Given the description of an element on the screen output the (x, y) to click on. 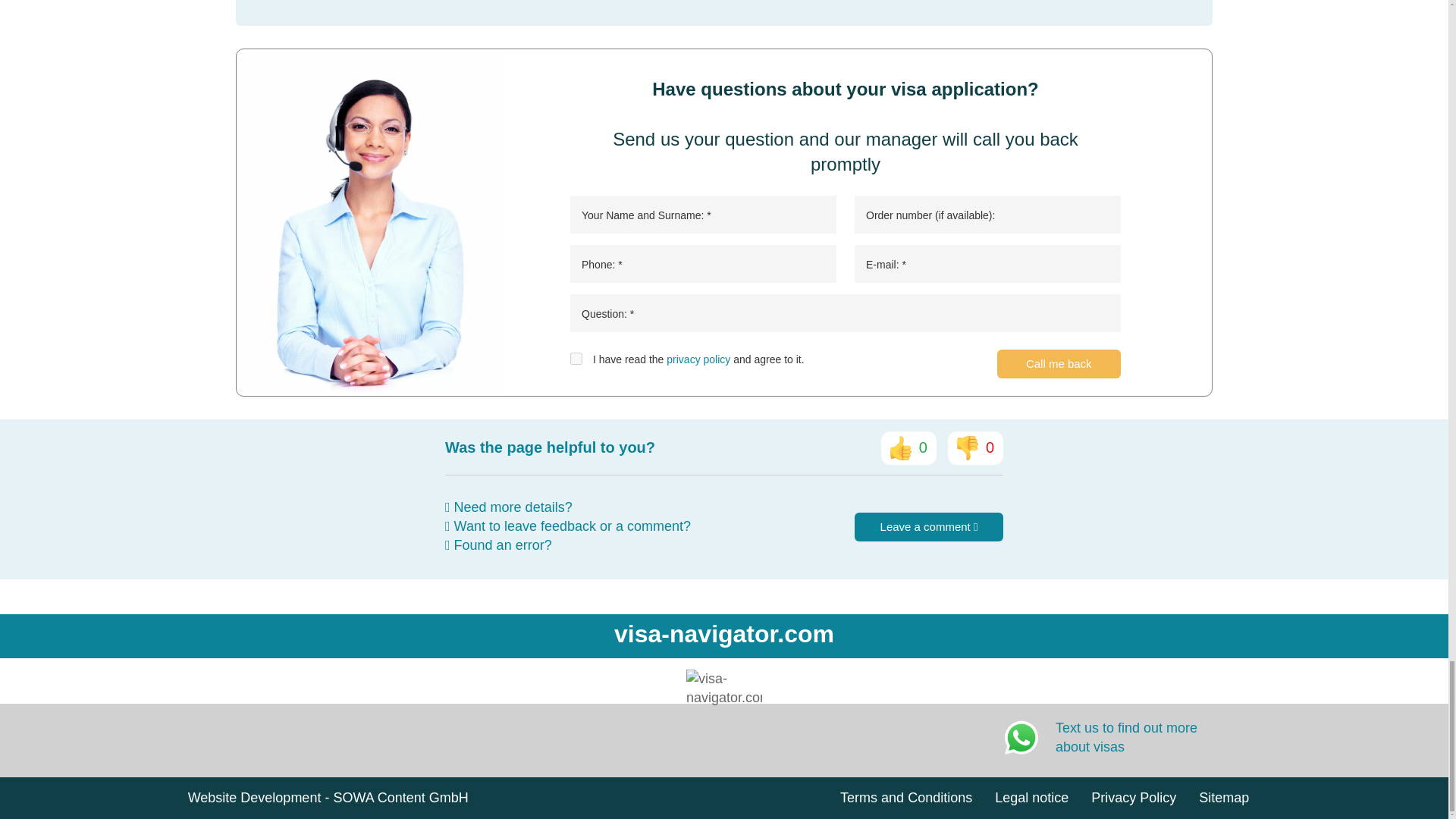
on (576, 358)
